Given the description of an element on the screen output the (x, y) to click on. 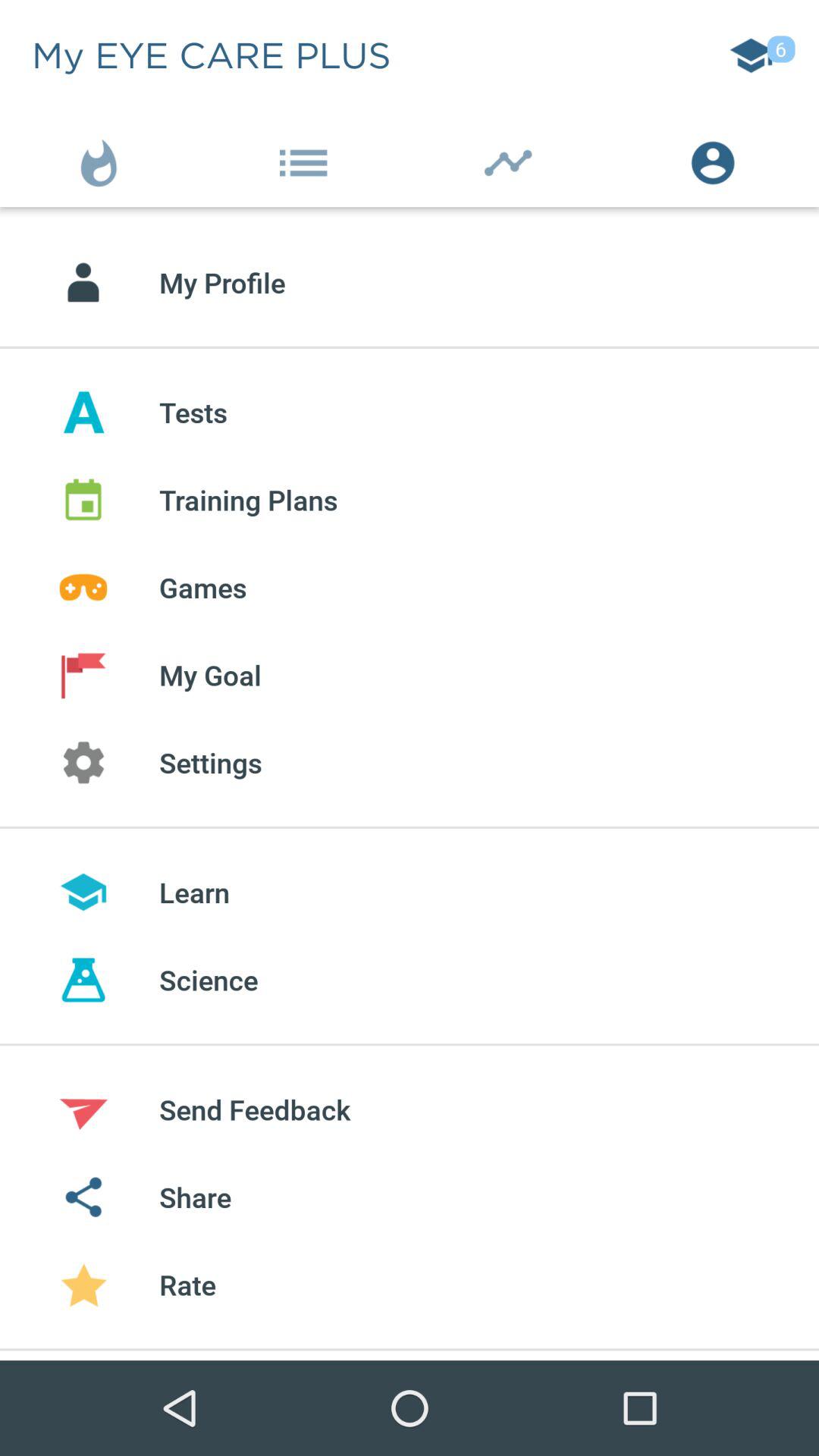
launch the item next to    icon (716, 159)
